Given the description of an element on the screen output the (x, y) to click on. 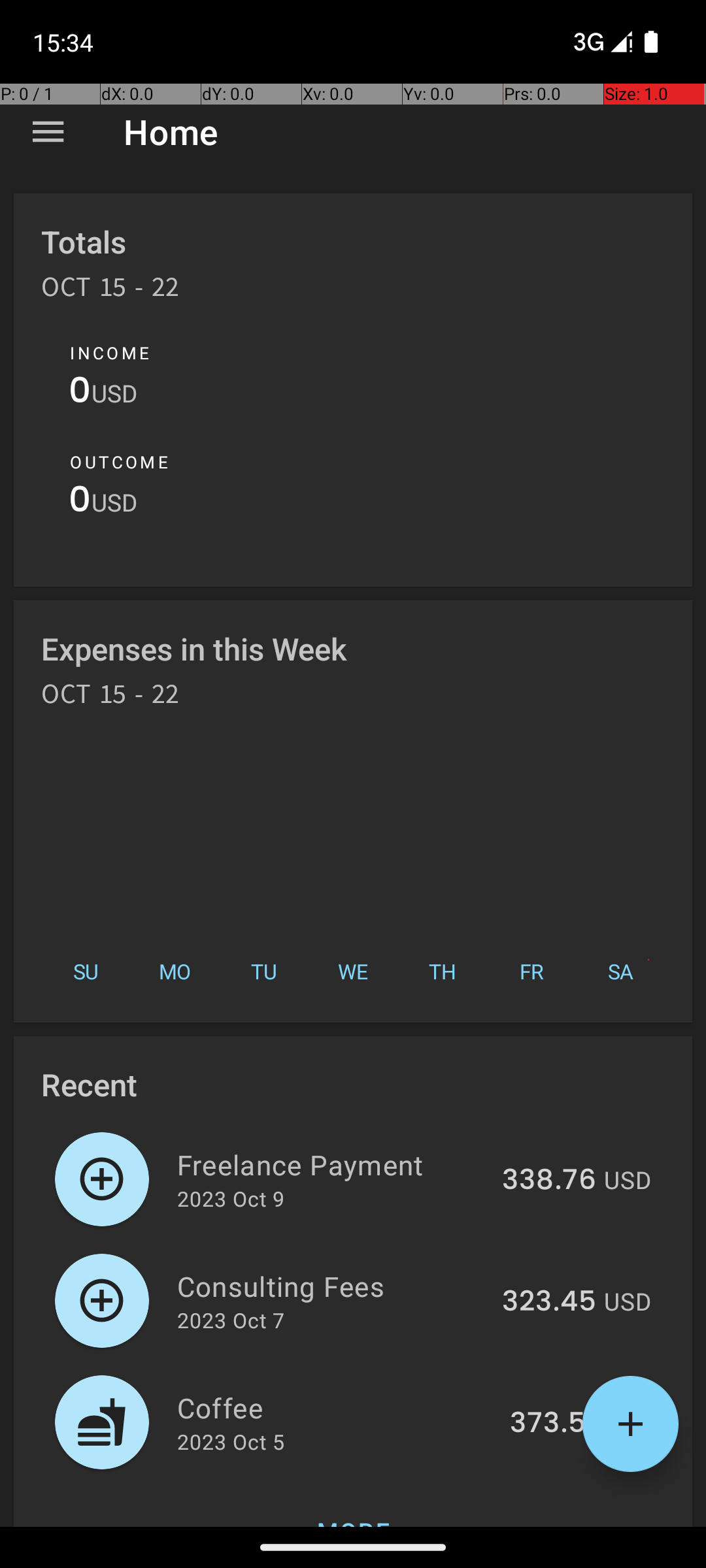
MORE Element type: android.widget.Button (352, 1504)
338.76 Element type: android.widget.TextView (548, 1180)
Consulting Fees Element type: android.widget.TextView (331, 1285)
2023 Oct 7 Element type: android.widget.TextView (230, 1320)
323.45 Element type: android.widget.TextView (548, 1301)
Coffee Element type: android.widget.TextView (335, 1407)
2023 Oct 5 Element type: android.widget.TextView (230, 1441)
373.51 Element type: android.widget.TextView (552, 1423)
